Given the description of an element on the screen output the (x, y) to click on. 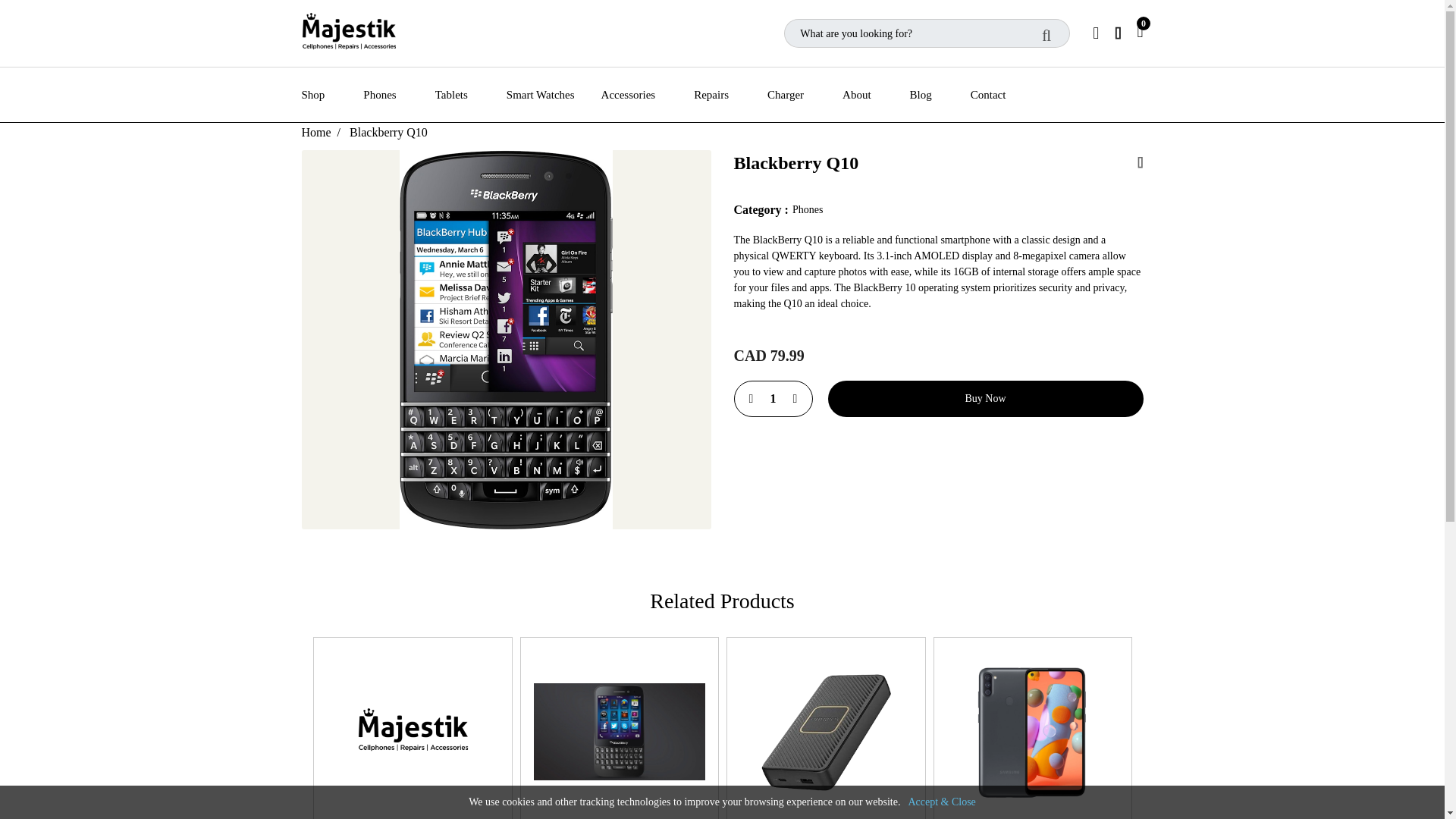
Shop (332, 94)
Repairs (730, 94)
Tablets (470, 94)
About (876, 94)
Charger (805, 94)
Smart Watches (553, 94)
Blog (940, 94)
Phones (397, 94)
Accessories (647, 94)
Contact (988, 94)
